Given the description of an element on the screen output the (x, y) to click on. 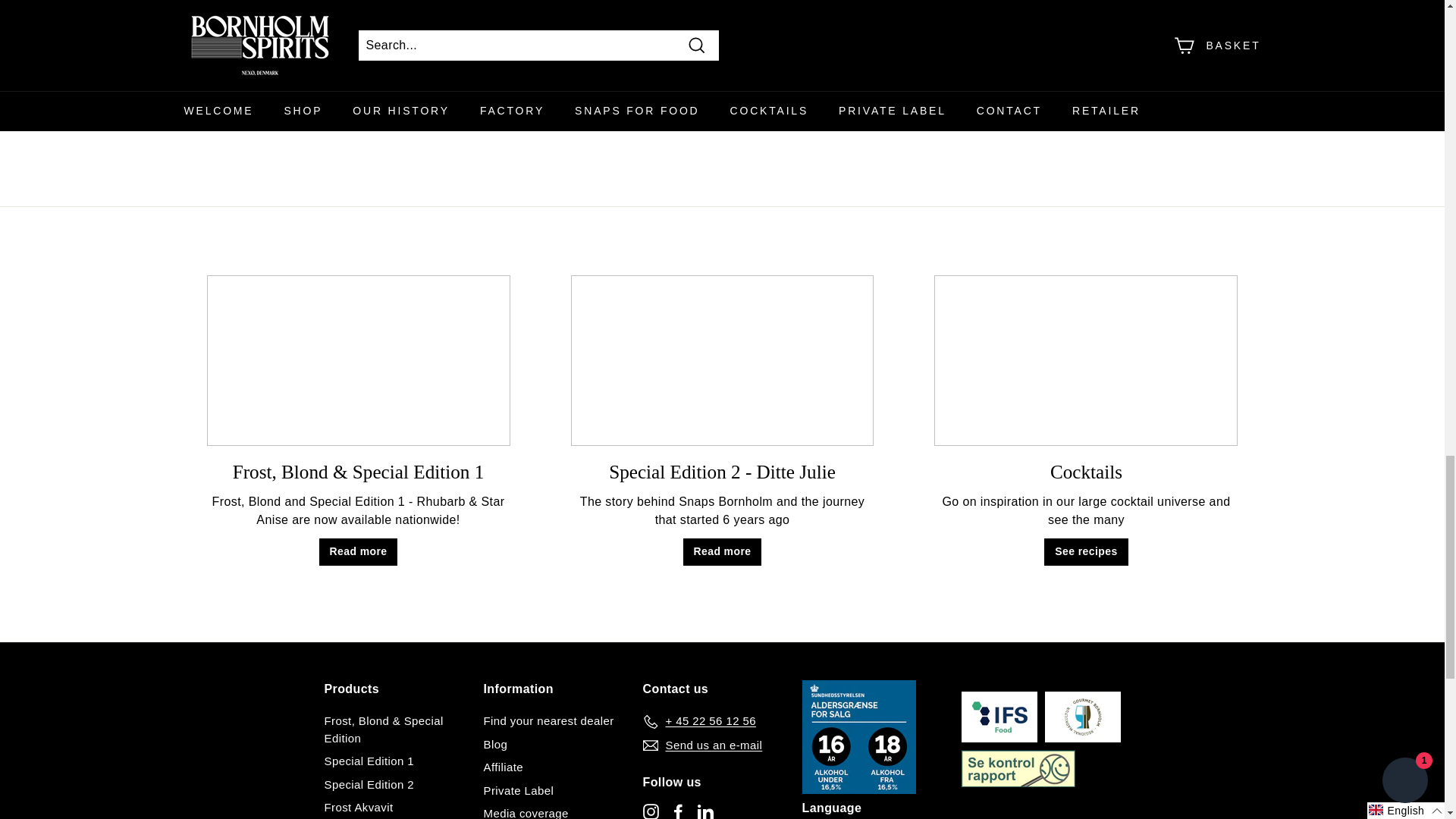
Bornholm Spirits on LinkedIn (705, 811)
Bornholm Spirits on Facebook (677, 811)
Bornholm Spirits on Instagram (651, 811)
